Given the description of an element on the screen output the (x, y) to click on. 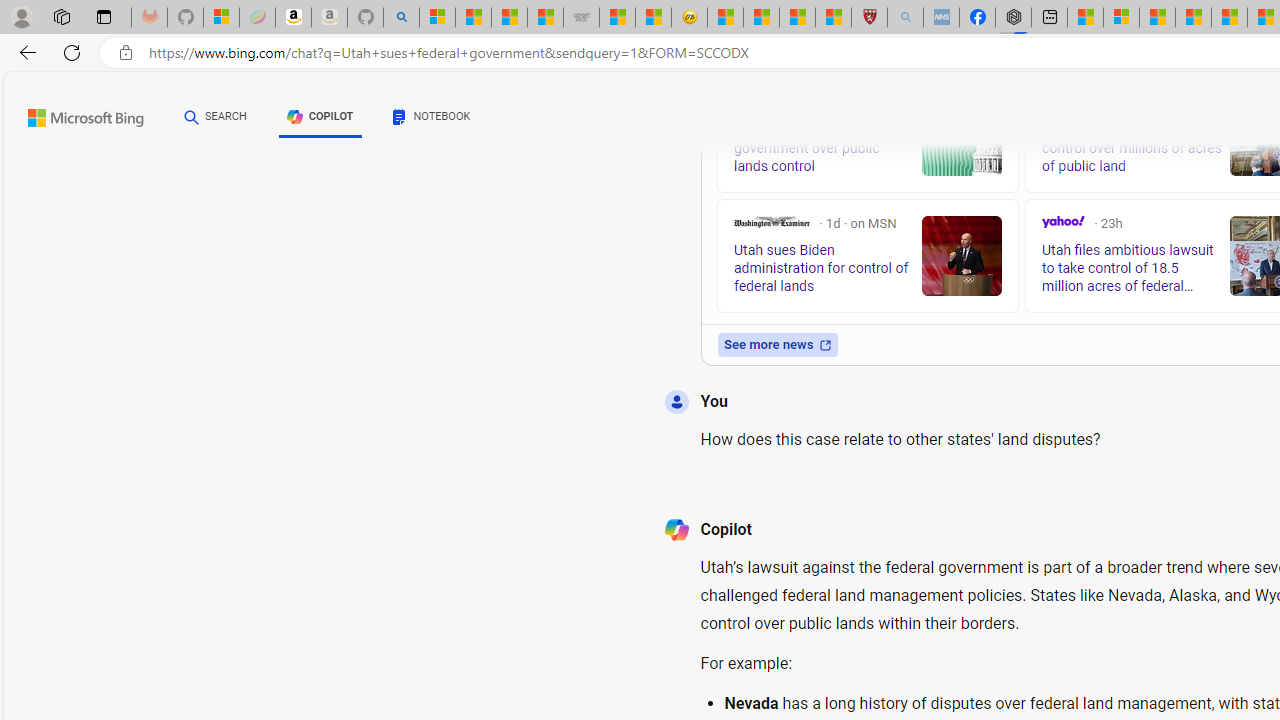
NOTEBOOK (431, 120)
COPILOT (319, 120)
Yahoo (1062, 222)
Back to Bing search (73, 113)
COPILOT (319, 116)
Axios Salt Lake City on MSN (741, 103)
